Given the description of an element on the screen output the (x, y) to click on. 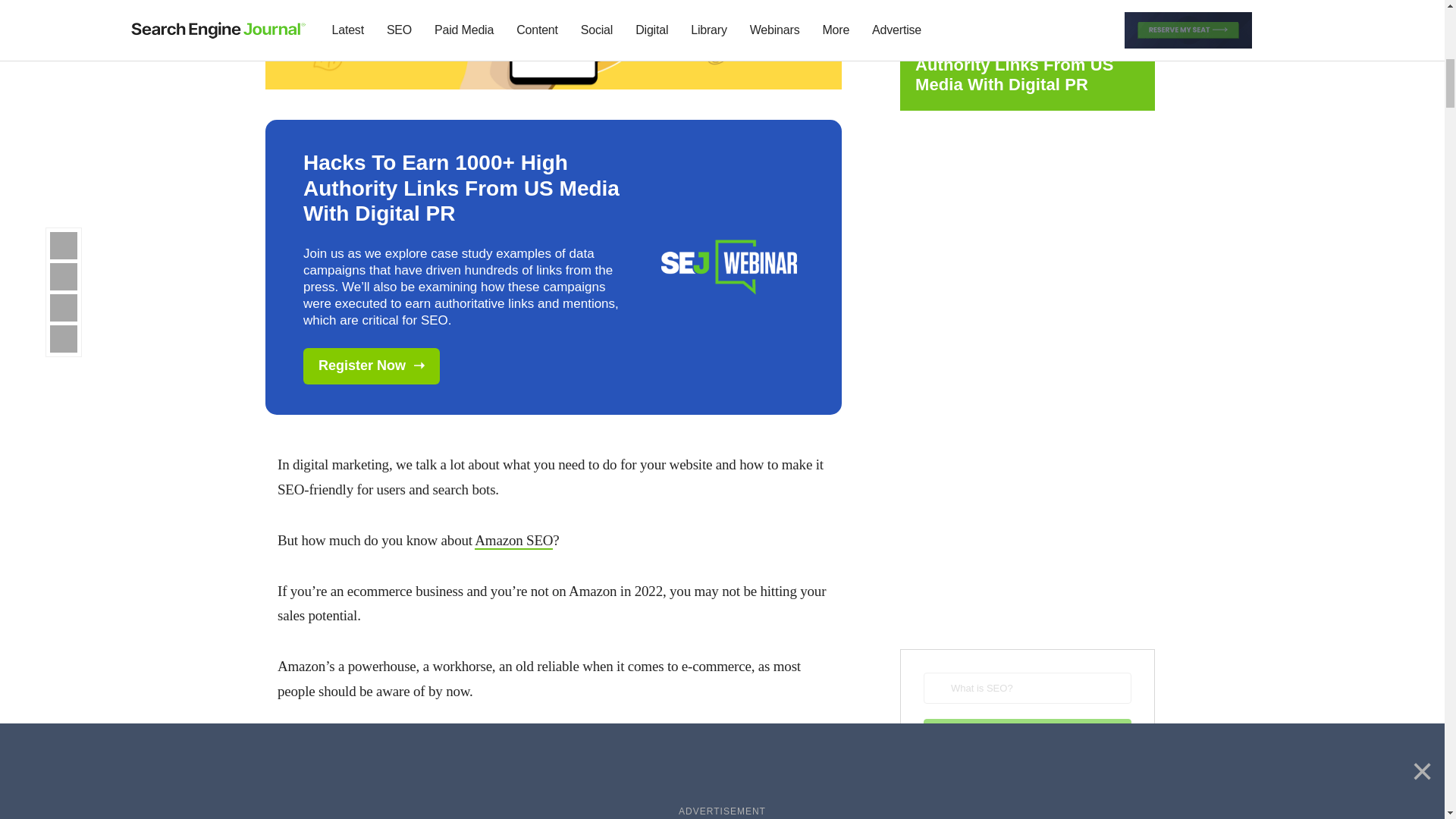
SEARCH (1027, 734)
SEARCH (1027, 734)
